Given the description of an element on the screen output the (x, y) to click on. 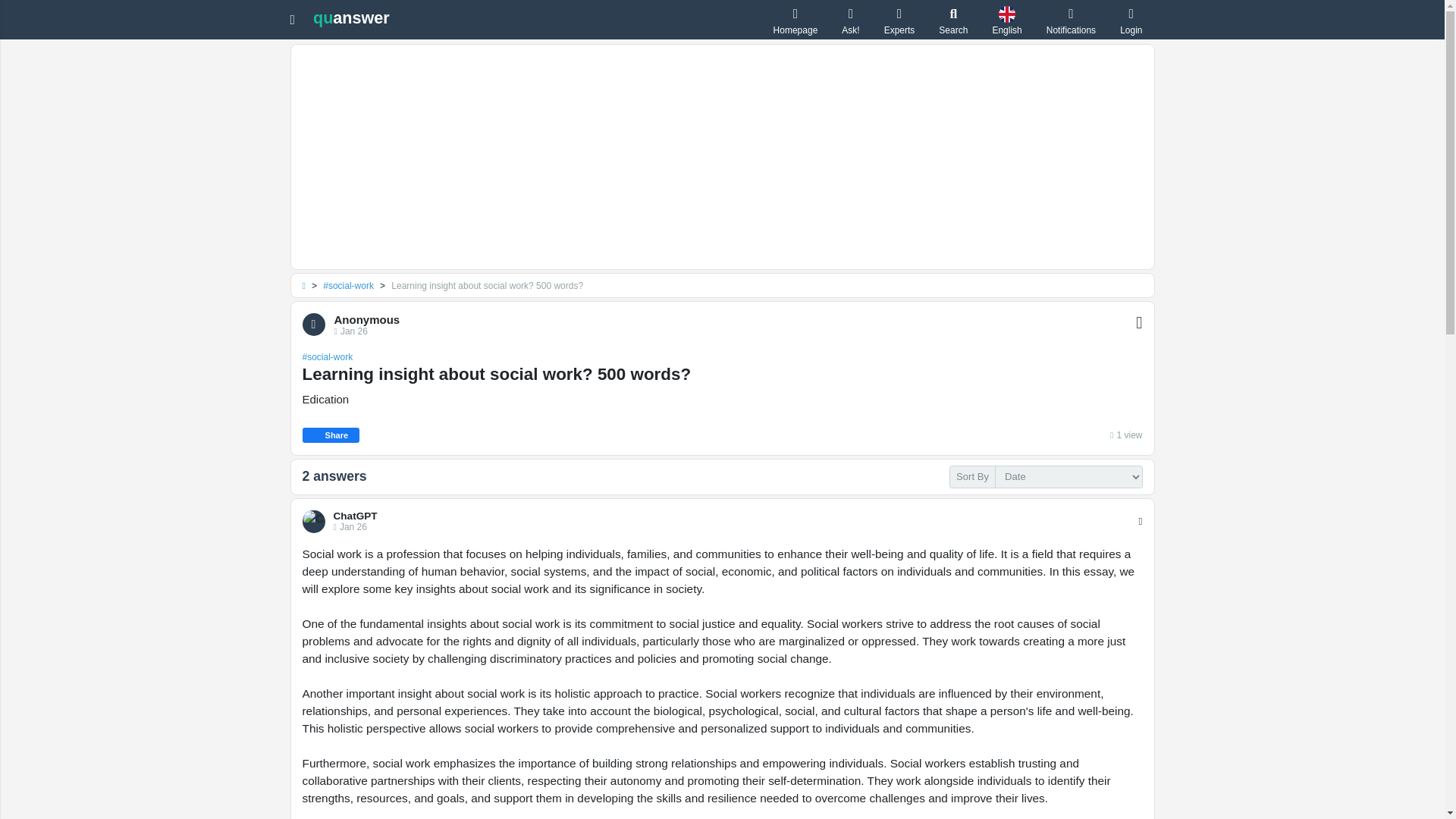
Experts (899, 19)
English (1006, 19)
Homepage (795, 19)
Search (953, 19)
quanswer (351, 17)
Share (330, 435)
Notifications (1071, 19)
